Given the description of an element on the screen output the (x, y) to click on. 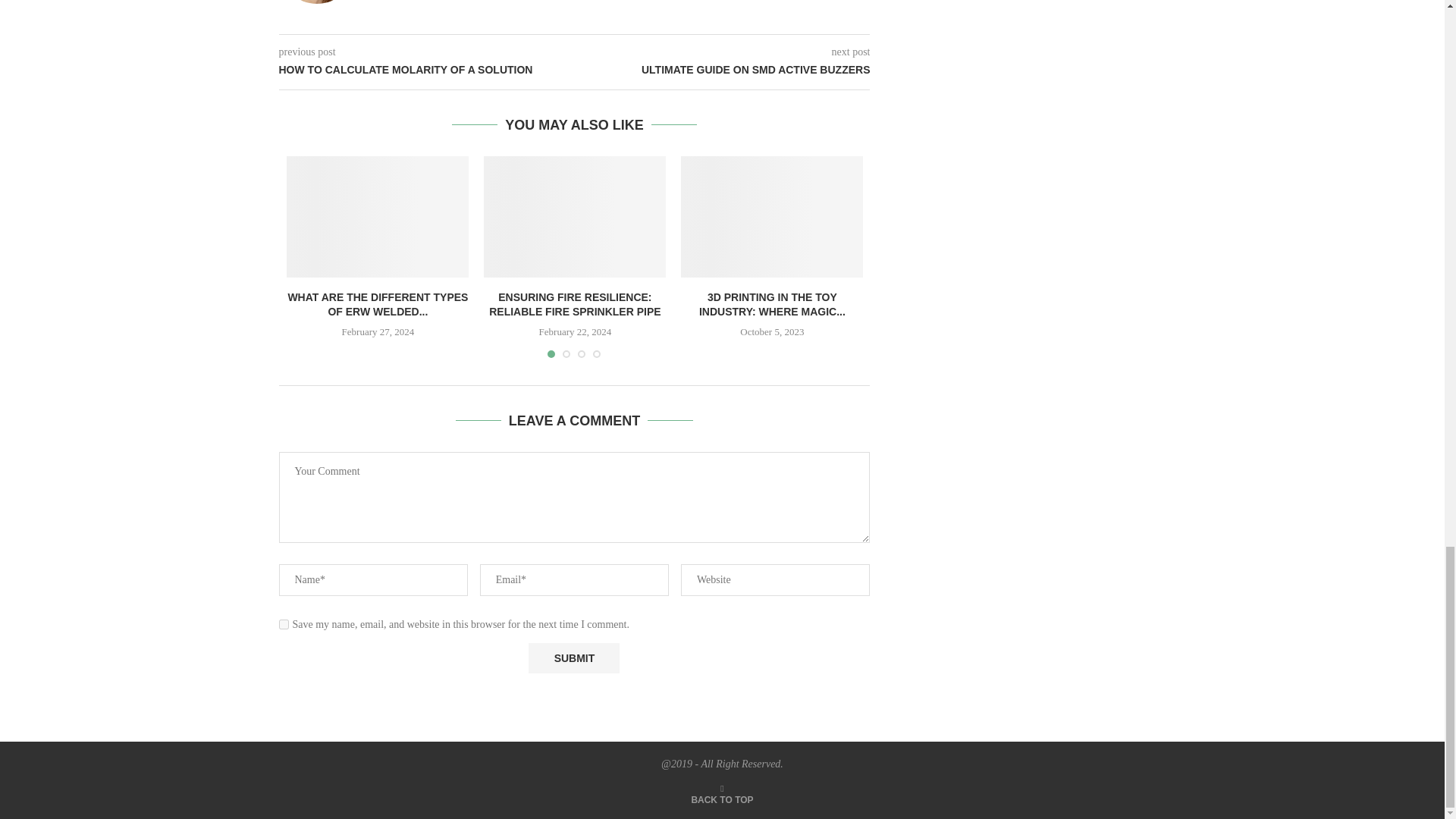
Submit (574, 657)
HOW TO CALCULATE MOLARITY OF A SOLUTION (427, 70)
ENSURING FIRE RESILIENCE: RELIABLE FIRE SPRINKLER PIPE (575, 304)
3D PRINTING IN THE TOY INDUSTRY: WHERE MAGIC... (771, 304)
Ensuring Fire Resilience: Reliable Fire Sprinkler Pipe (574, 216)
ULTIMATE GUIDE ON SMD ACTIVE BUZZERS (722, 70)
What Are The Different Types Of ERW Welded Pipe? (377, 216)
WHAT ARE THE DIFFERENT TYPES OF ERW WELDED... (376, 304)
yes (283, 624)
